Given the description of an element on the screen output the (x, y) to click on. 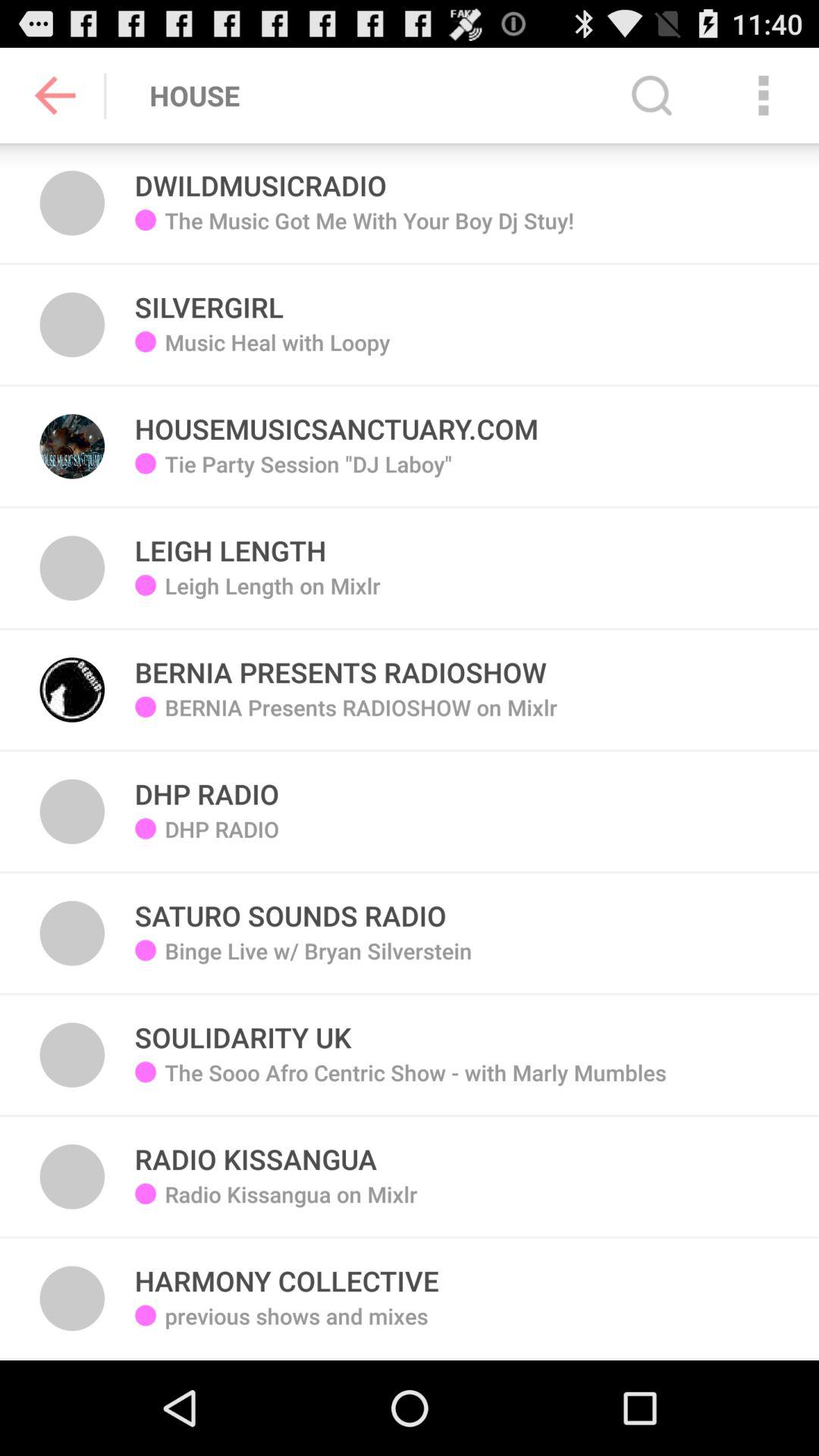
launch app below music heal with icon (308, 475)
